Given the description of an element on the screen output the (x, y) to click on. 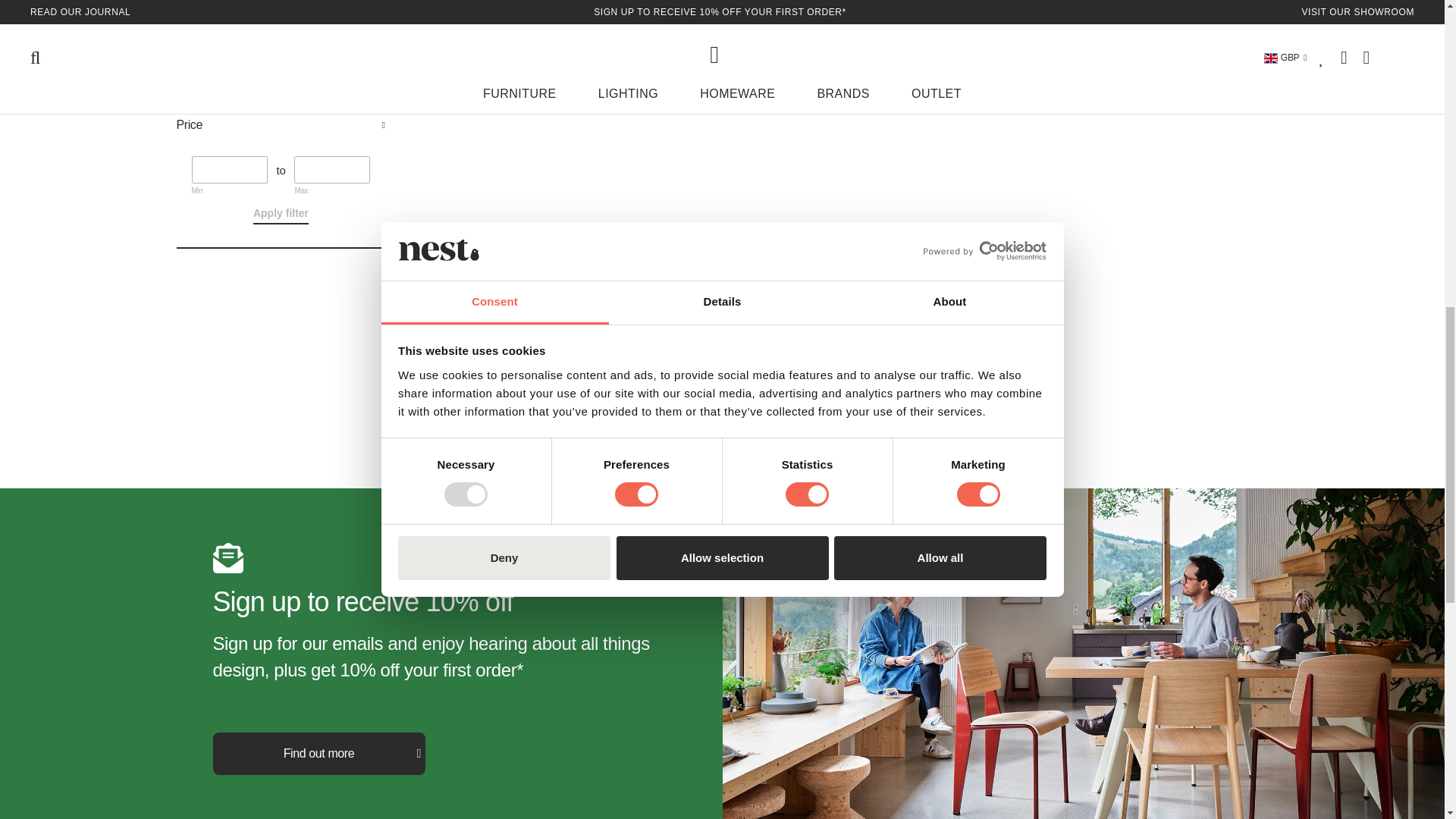
Apply filter (280, 215)
